Given the description of an element on the screen output the (x, y) to click on. 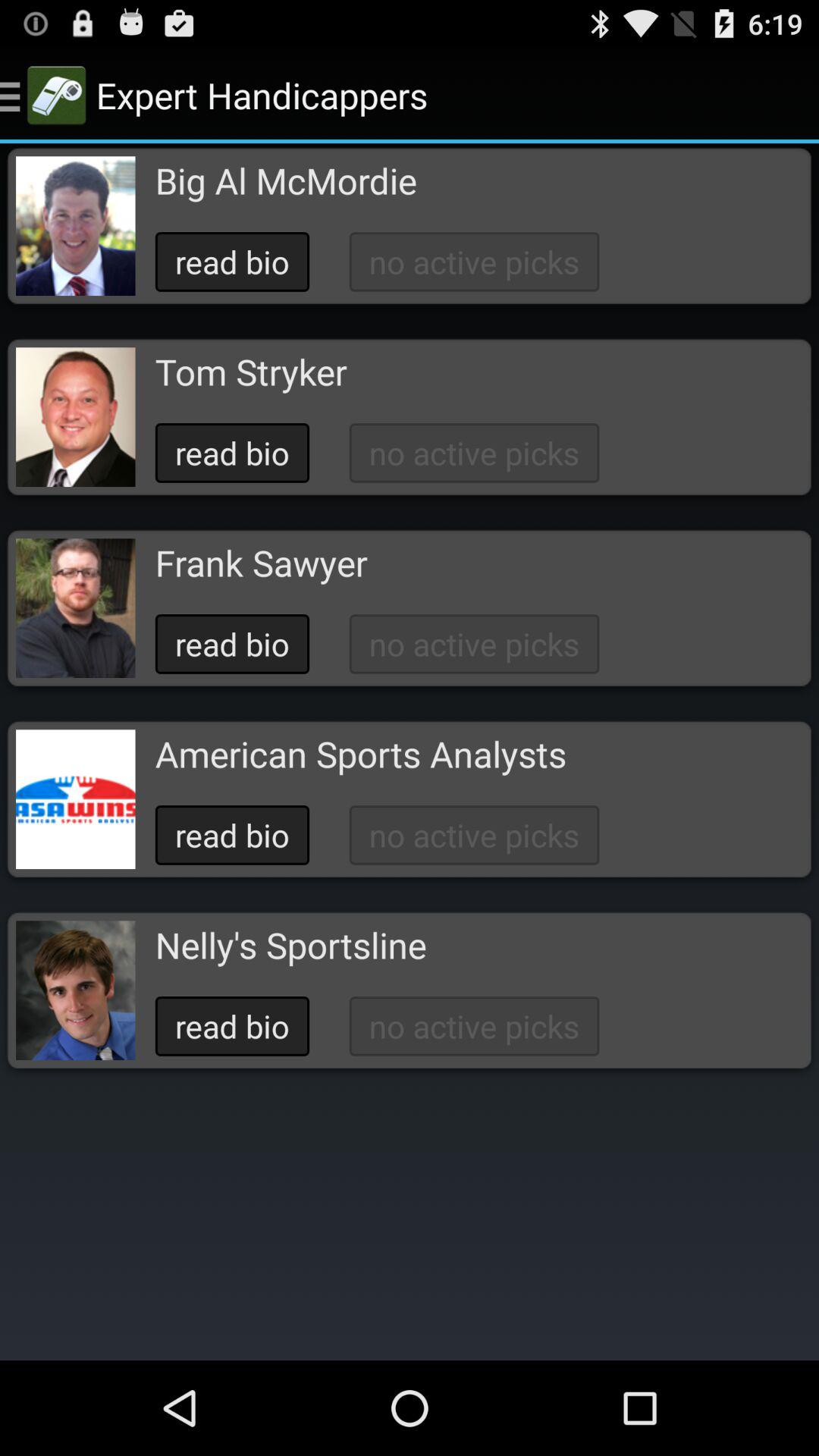
launch app below expert handicappers icon (285, 180)
